Given the description of an element on the screen output the (x, y) to click on. 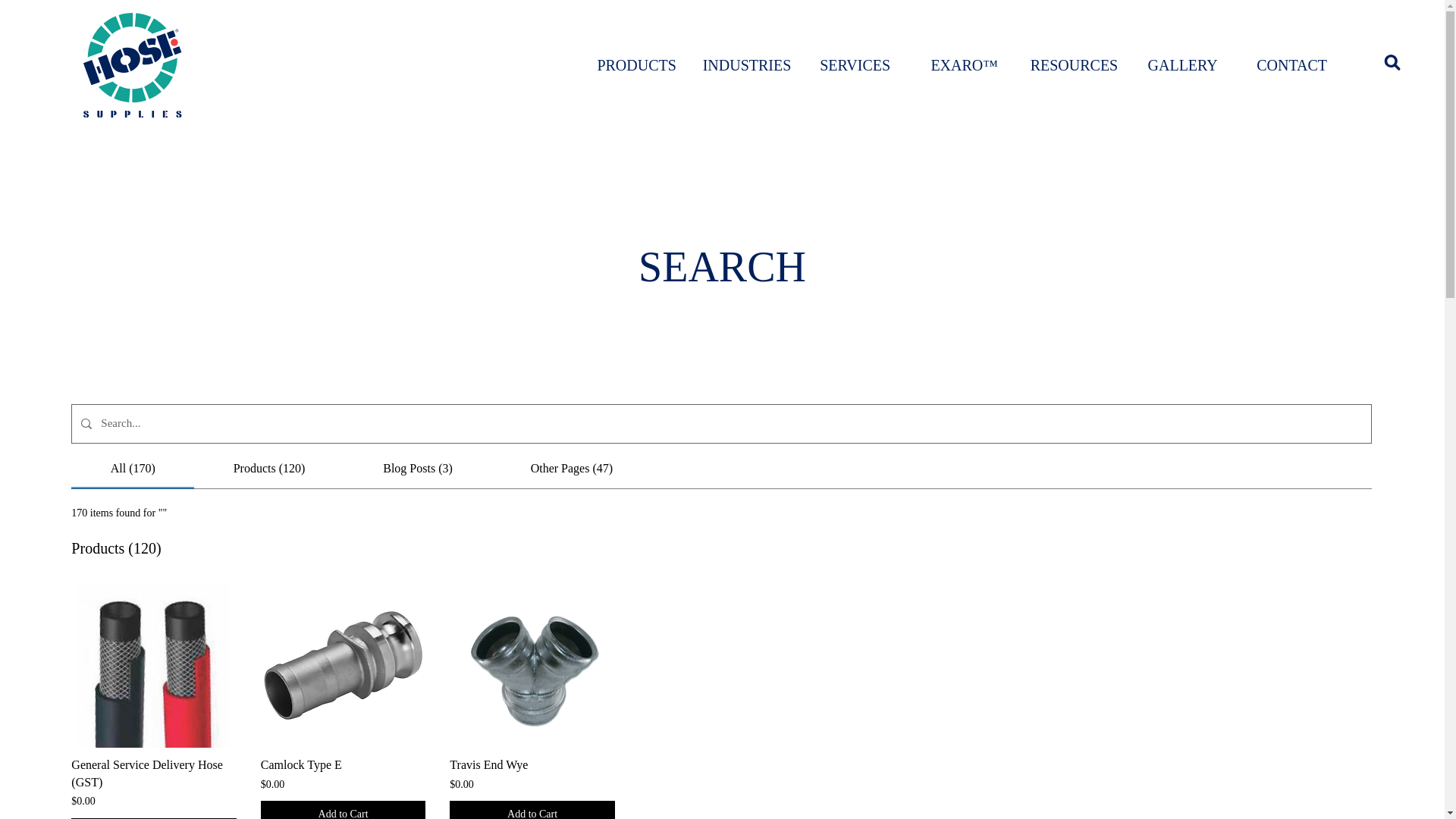
GALLERY (1182, 65)
Travis End Wye (531, 764)
Camlock Type E (343, 764)
Add to Cart (531, 809)
Add to Cart (343, 809)
RESOURCES (1073, 65)
CONTACT (1291, 65)
Travis End Wye (531, 665)
Travis End Wye (531, 764)
Camlock Type E (343, 764)
